Given the description of an element on the screen output the (x, y) to click on. 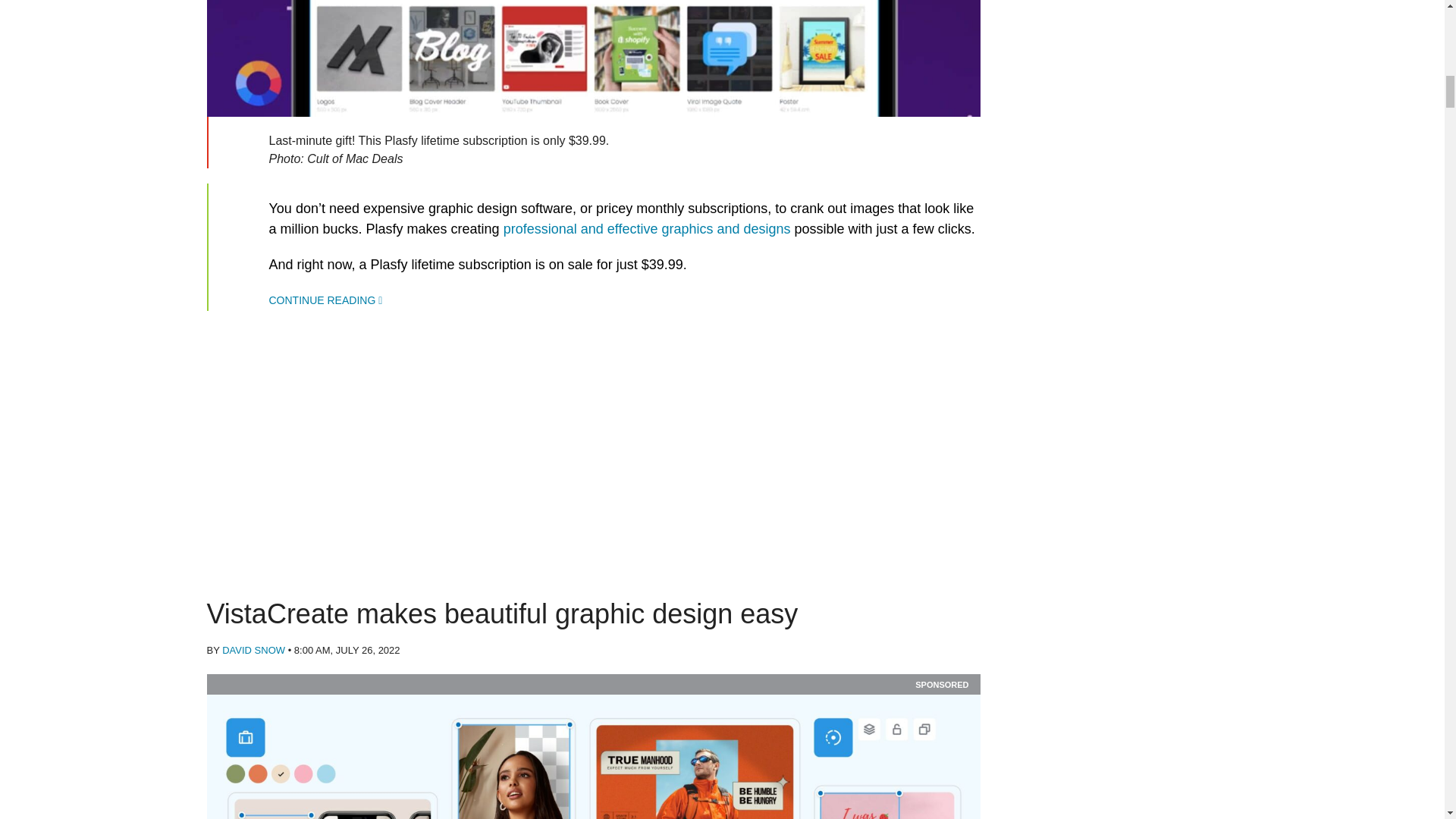
Posts by David Snow (253, 650)
VistaCreate makes beautiful graphic design easy (592, 756)
